Given the description of an element on the screen output the (x, y) to click on. 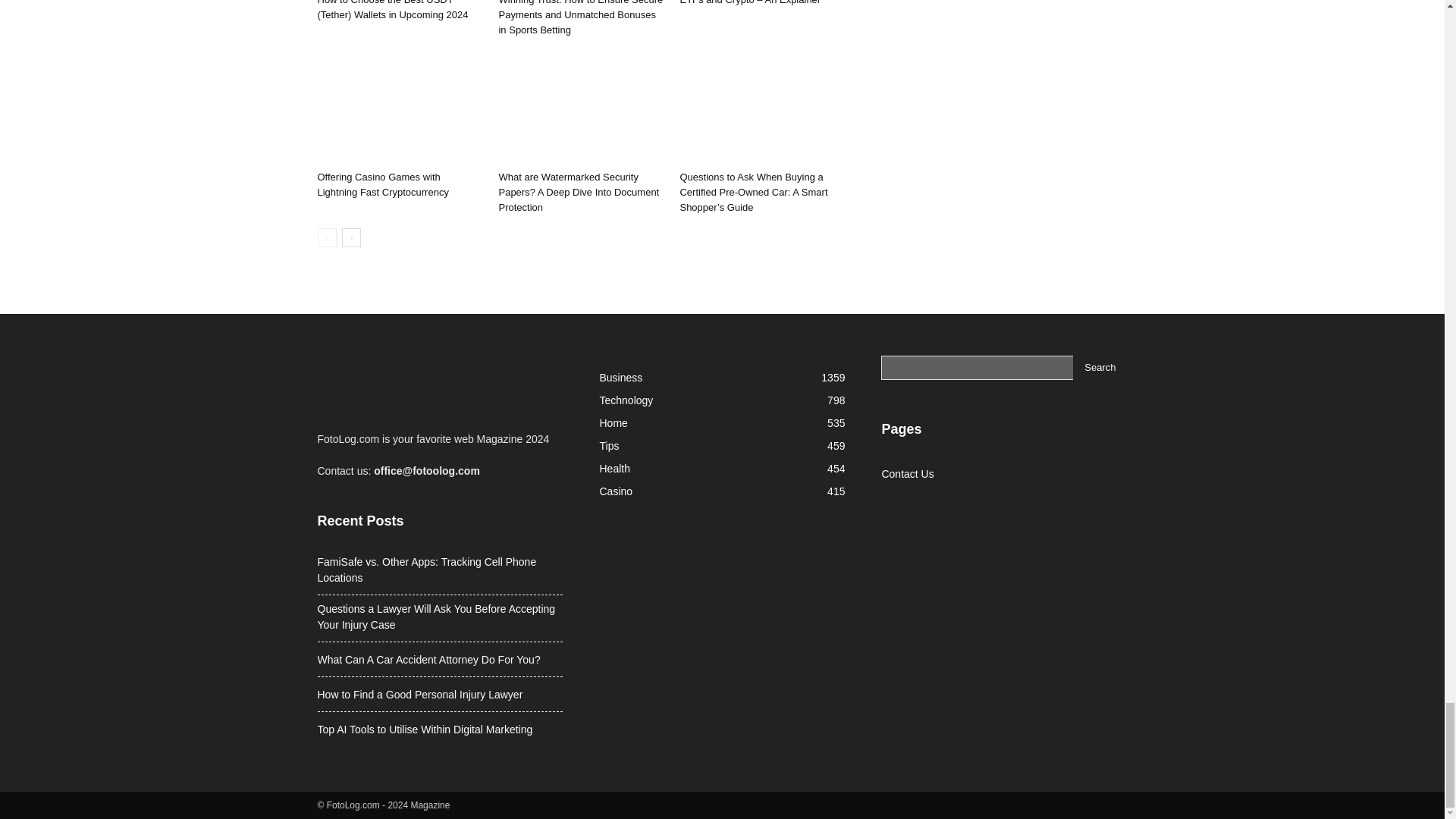
Offering Casino Games with Lightning Fast Cryptocurrency (399, 107)
Offering Casino Games with Lightning Fast Cryptocurrency (382, 184)
Search (1099, 367)
